Given the description of an element on the screen output the (x, y) to click on. 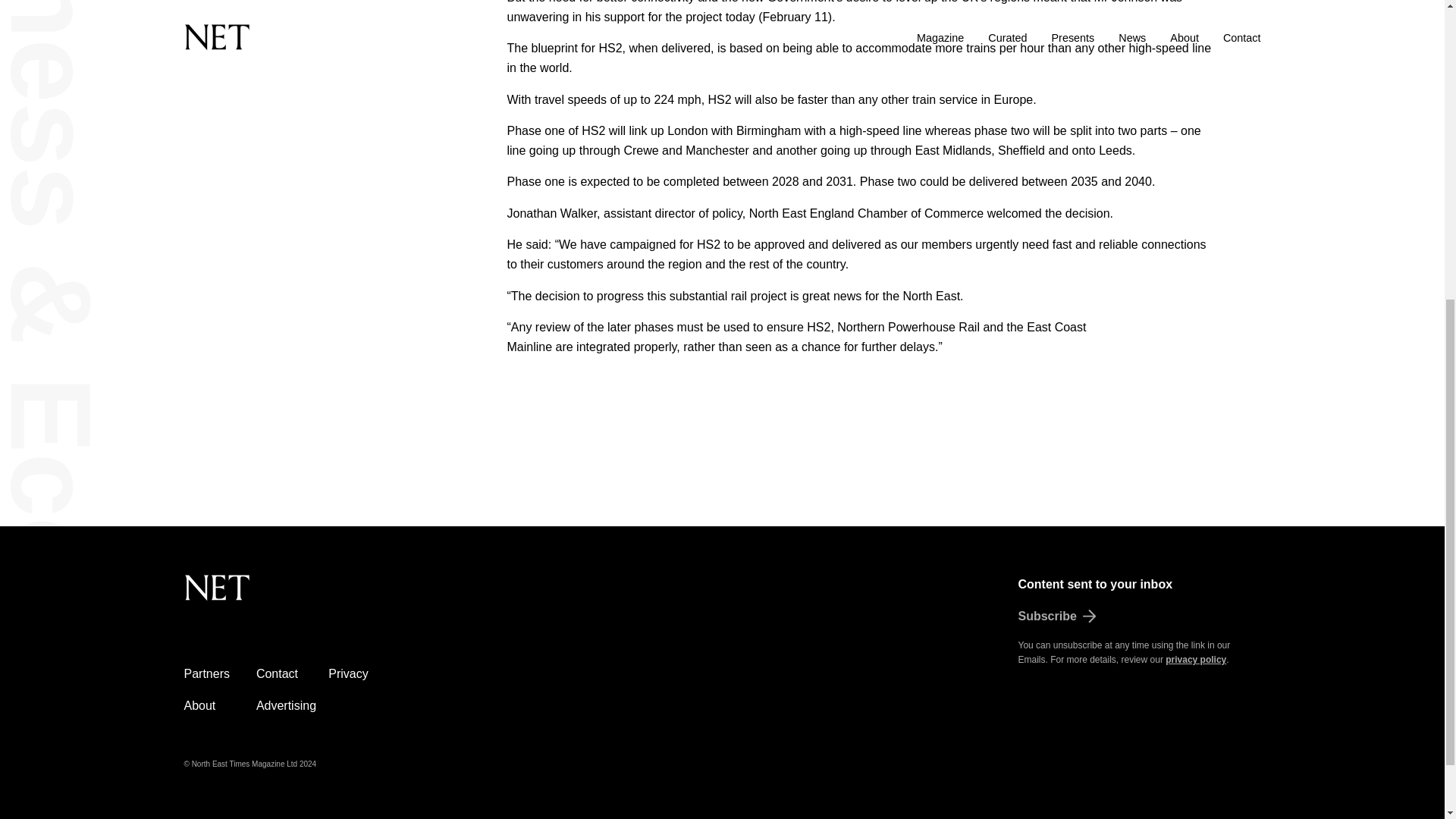
Contact (277, 673)
Advertising (285, 705)
About (199, 705)
Subscribe to the North East Times Magazine newsletter (1138, 616)
Partners (205, 673)
Return to the top of this page (293, 595)
Privacy (348, 673)
Subscribe (1138, 616)
Read our full privacy notice (1195, 659)
privacy policy (1195, 659)
